Given the description of an element on the screen output the (x, y) to click on. 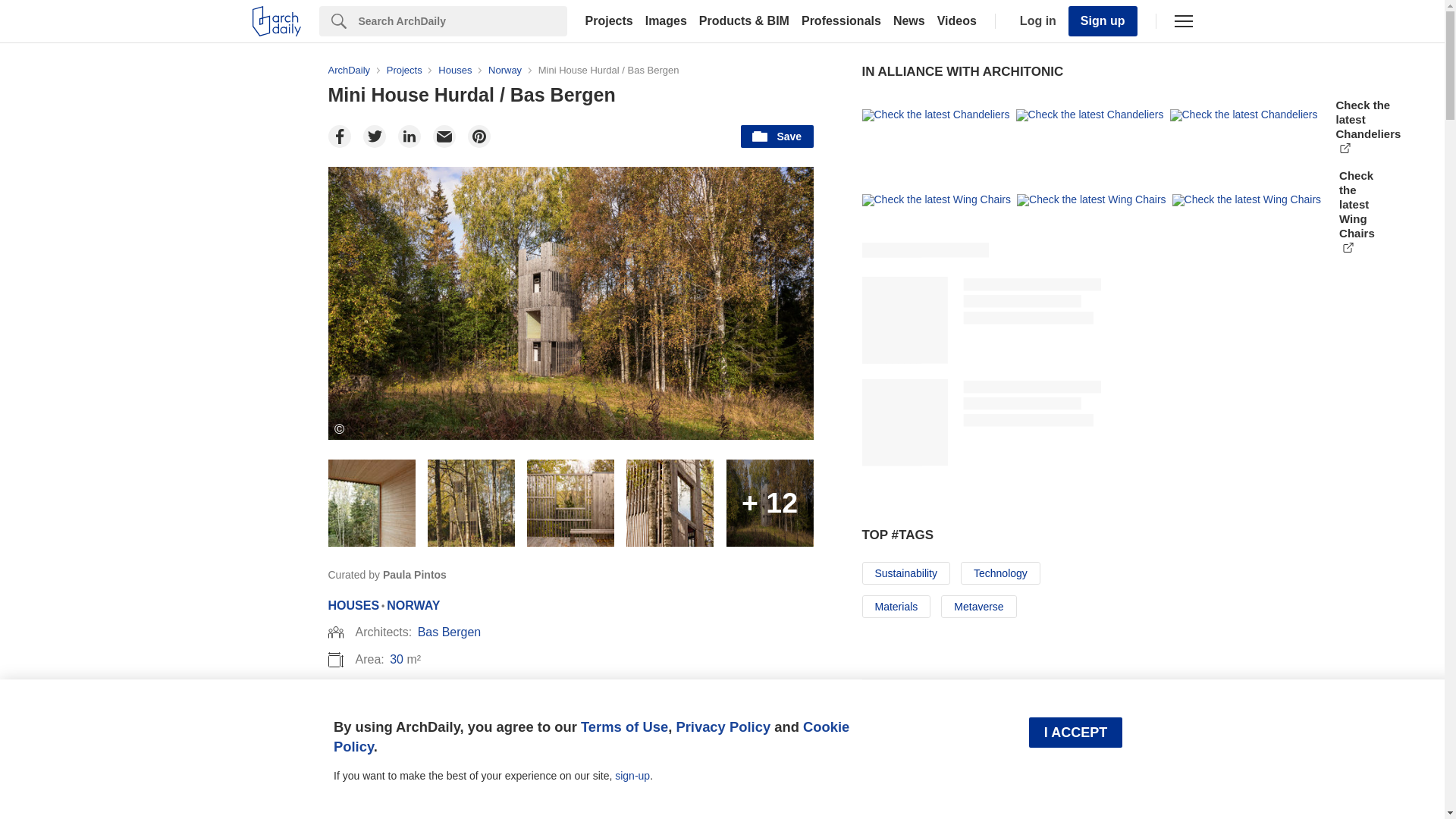
News (908, 21)
Projects (609, 21)
Images (666, 21)
Videos (956, 21)
Log in (1035, 20)
Professionals (840, 21)
Sign up (1102, 20)
